Given the description of an element on the screen output the (x, y) to click on. 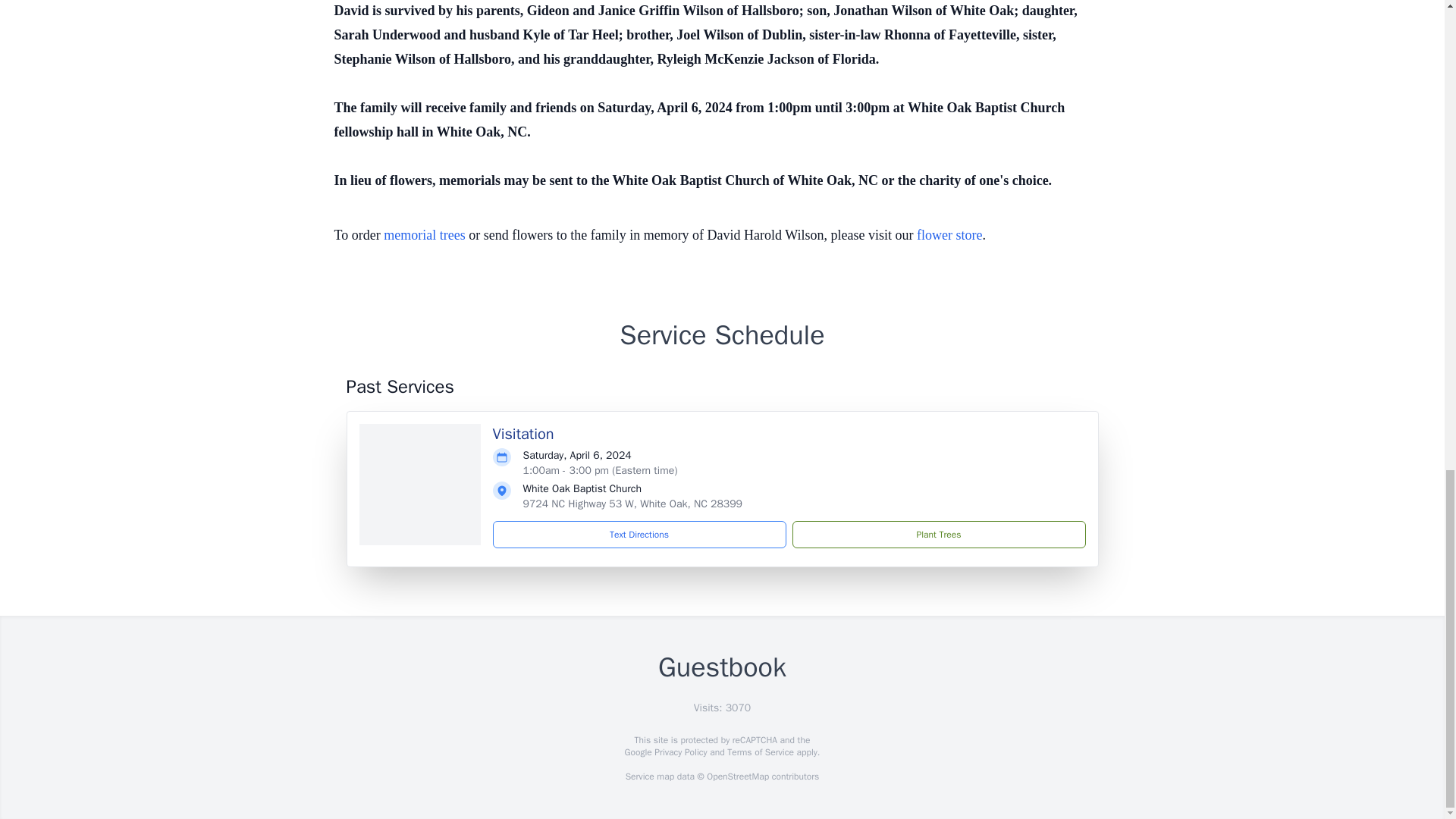
Privacy Policy (679, 752)
Text Directions (639, 533)
9724 NC Highway 53 W, White Oak, NC 28399 (632, 503)
memorial trees (424, 234)
OpenStreetMap (737, 776)
Plant Trees (938, 533)
flower store (949, 234)
Terms of Service (759, 752)
